Given the description of an element on the screen output the (x, y) to click on. 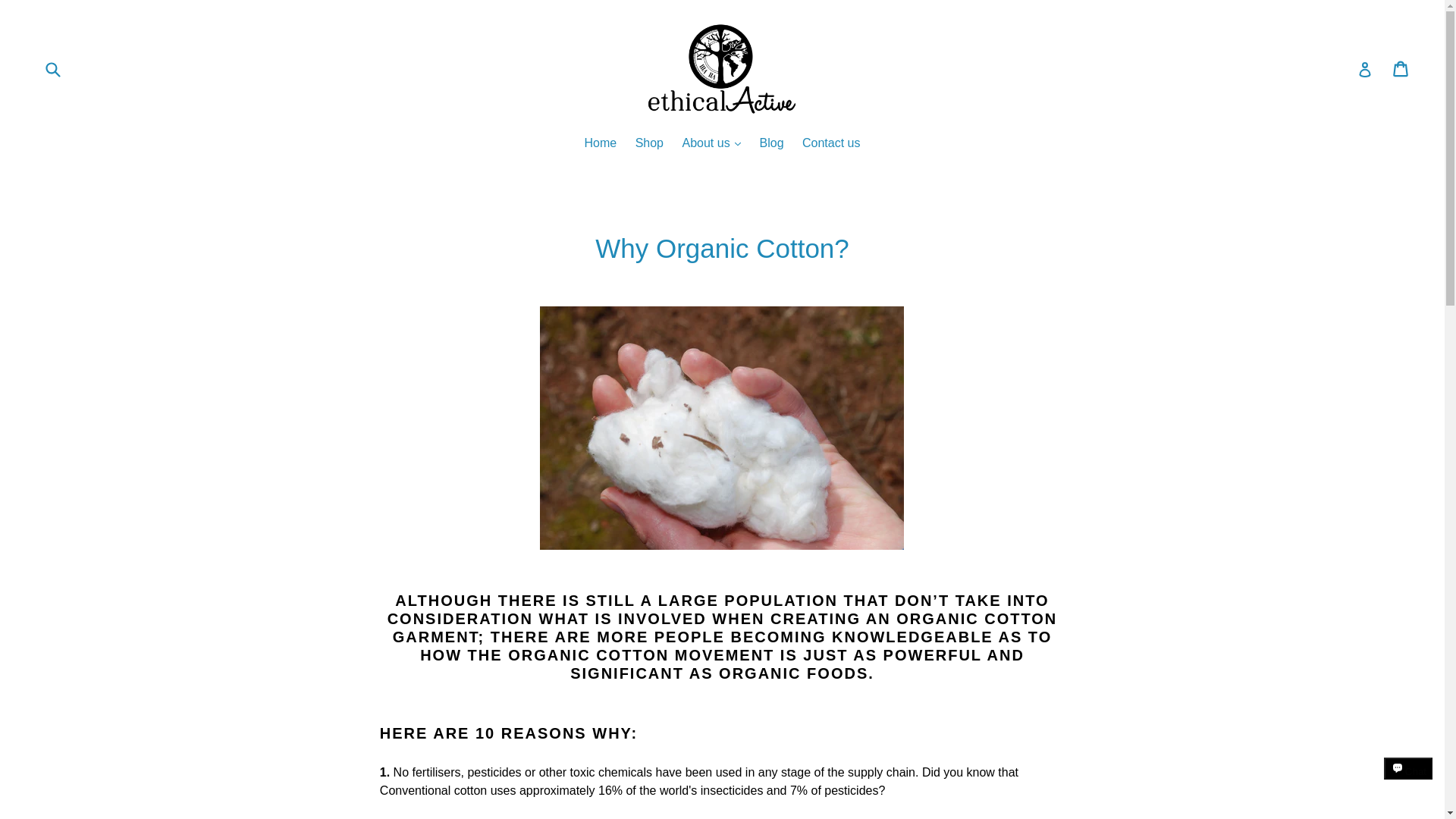
Shopify online store chat (1408, 781)
Contact us (830, 144)
Blog (772, 144)
Shop (649, 144)
Home (600, 144)
